Given the description of an element on the screen output the (x, y) to click on. 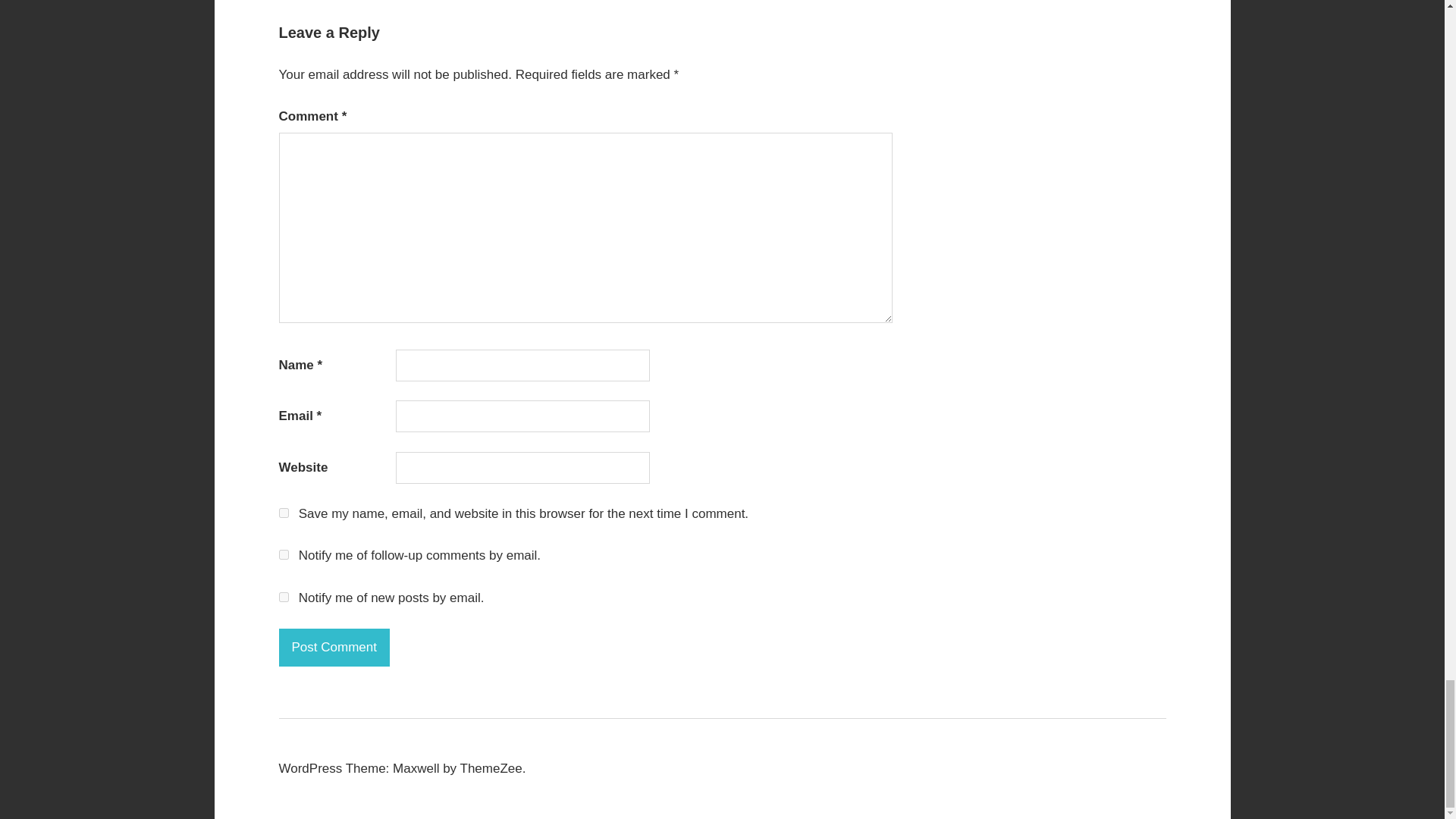
subscribe (283, 596)
Post Comment (334, 647)
yes (283, 512)
subscribe (283, 554)
